Given the description of an element on the screen output the (x, y) to click on. 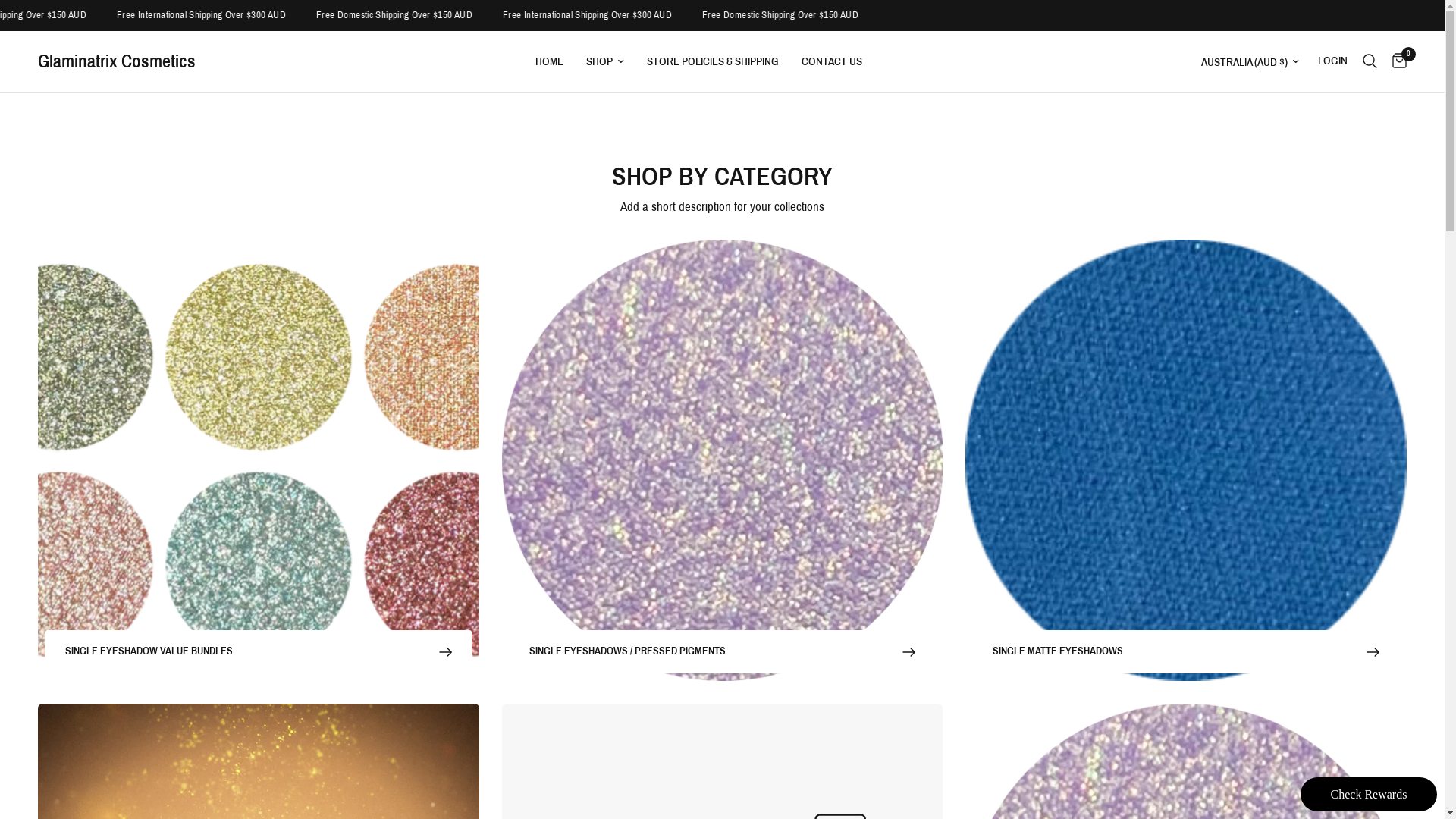
STORE POLICIES & SHIPPING Element type: text (712, 61)
SHOP Element type: text (604, 61)
SINGLE MATTE EYESHADOWS Element type: text (1185, 651)
SINGLE EYESHADOW VALUE BUNDLES Element type: text (258, 651)
LOGIN Element type: text (1332, 61)
HOME Element type: text (549, 61)
0 Element type: text (1395, 61)
CONTACT US Element type: text (830, 61)
SINGLE EYESHADOWS / PRESSED PIGMENTS Element type: text (722, 651)
Glaminatrix Cosmetics Element type: text (116, 61)
Search Element type: hover (1369, 61)
